Given the description of an element on the screen output the (x, y) to click on. 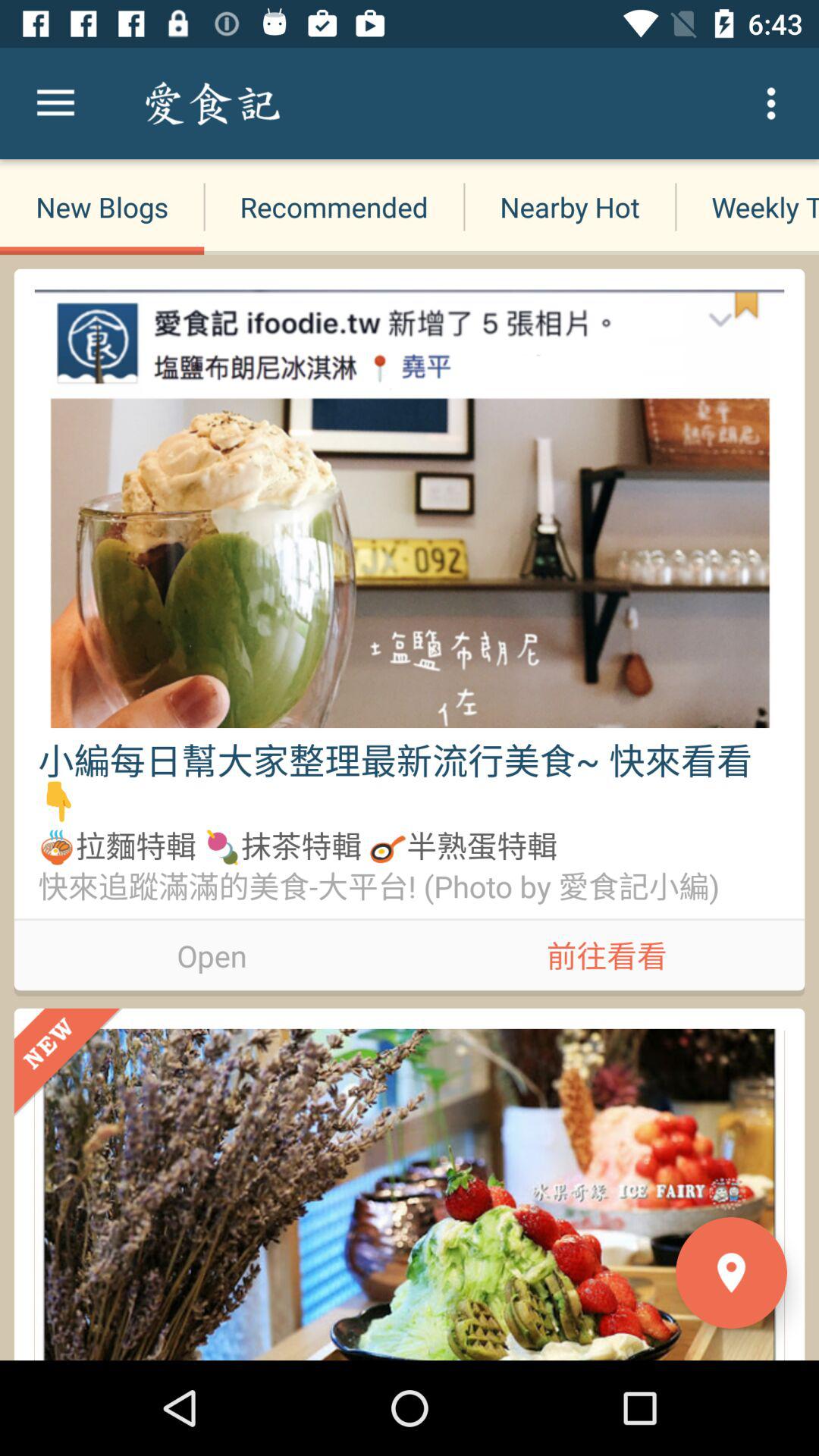
press item next to the nearby hot item (318, 103)
